Given the description of an element on the screen output the (x, y) to click on. 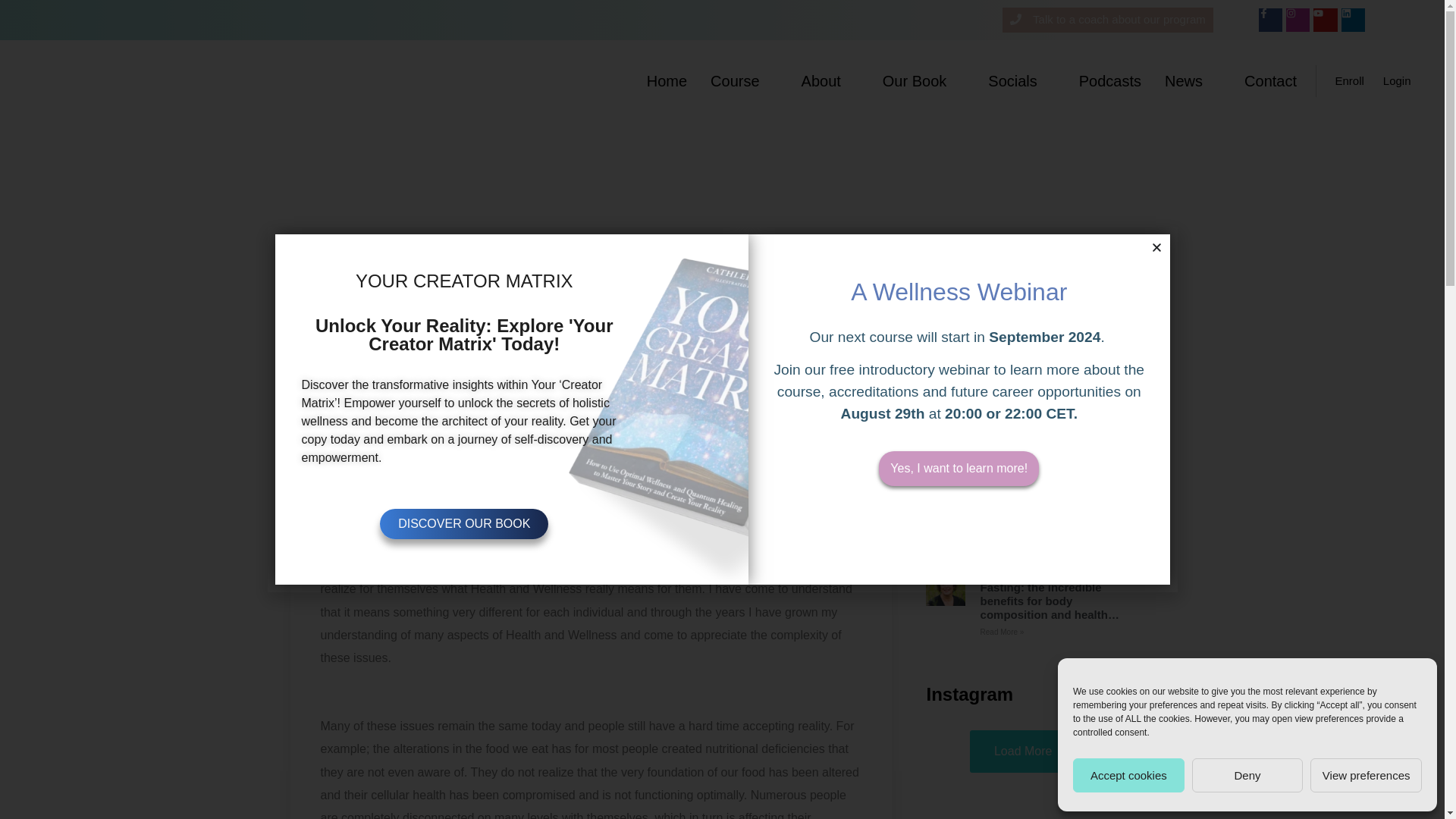
Talk to a coach about our program (1107, 19)
Home (666, 80)
About (830, 80)
Podcasts (1110, 80)
Accept cookies (1129, 775)
Deny (1247, 775)
Our Book (922, 80)
News (1192, 80)
View preferences (1366, 775)
Socials (1020, 80)
Course (743, 80)
